Given the description of an element on the screen output the (x, y) to click on. 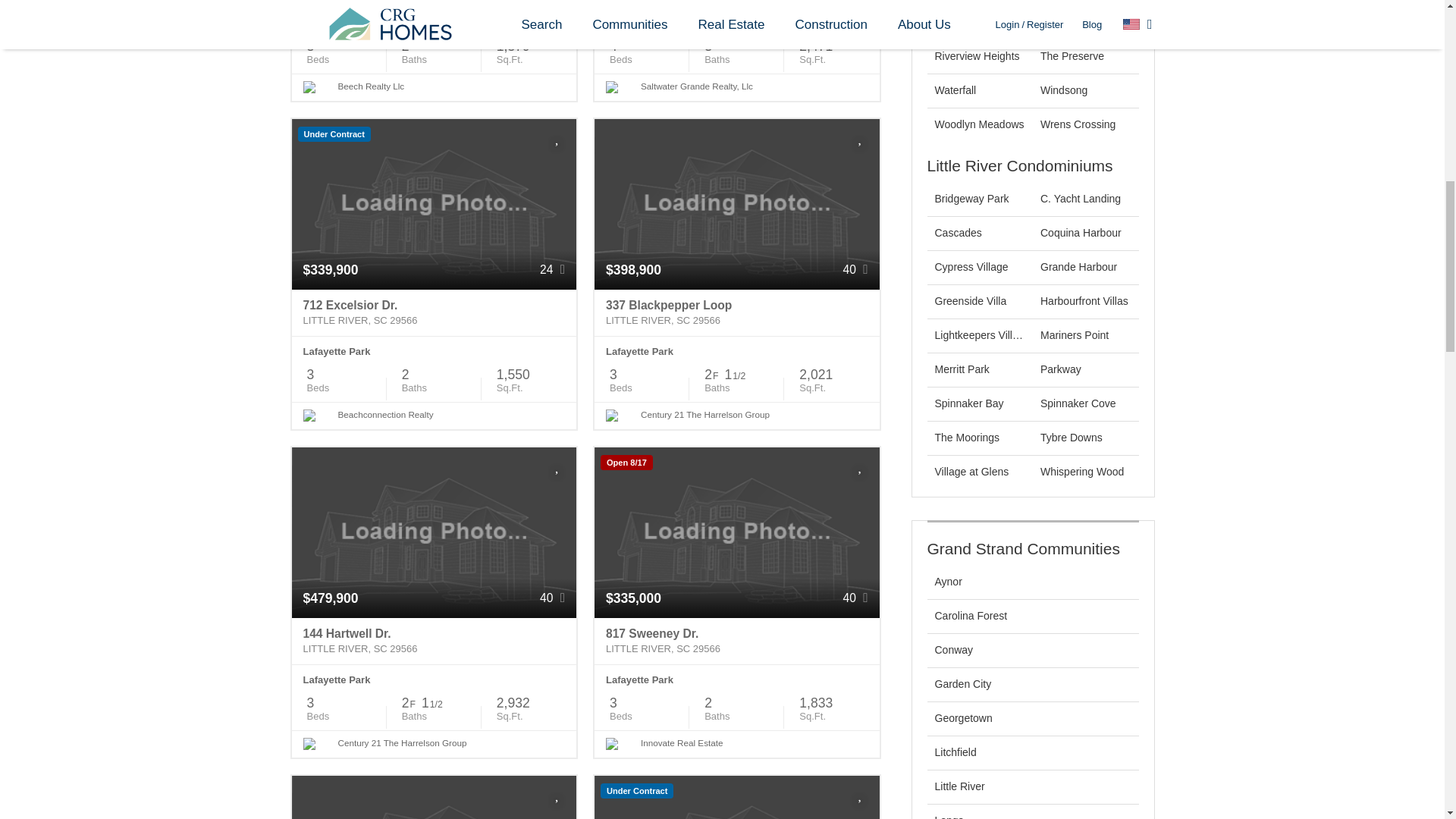
144 Hartwell Dr. Little River,  SC 29566 (433, 641)
424 Enderby Way Little River,  SC 29566 (433, 4)
712 Excelsior Dr. Little River,  SC 29566 (433, 312)
505 Amberview Loop Little River,  SC 29566 (736, 4)
337 Blackpepper Loop Little River,  SC 29566 (736, 312)
